Given the description of an element on the screen output the (x, y) to click on. 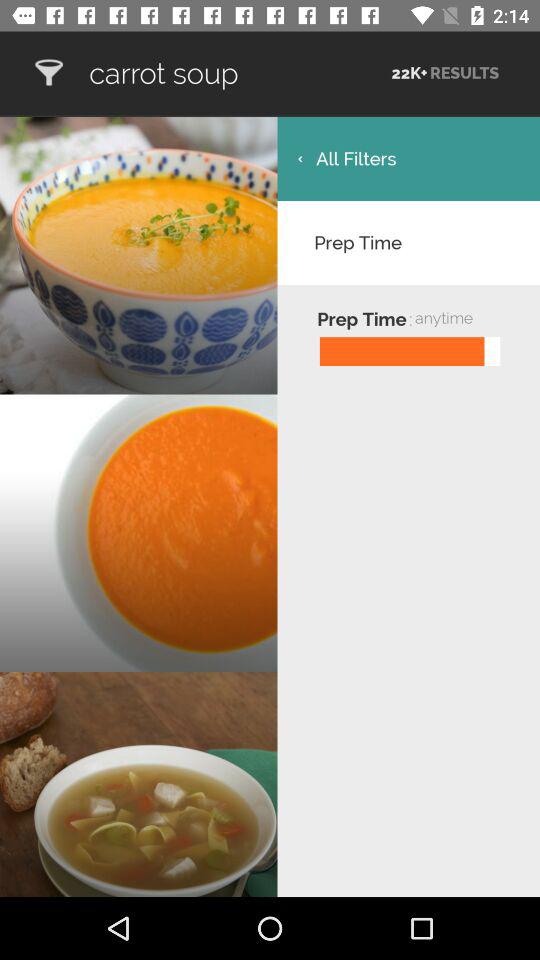
press item next to 22k+ (238, 73)
